Given the description of an element on the screen output the (x, y) to click on. 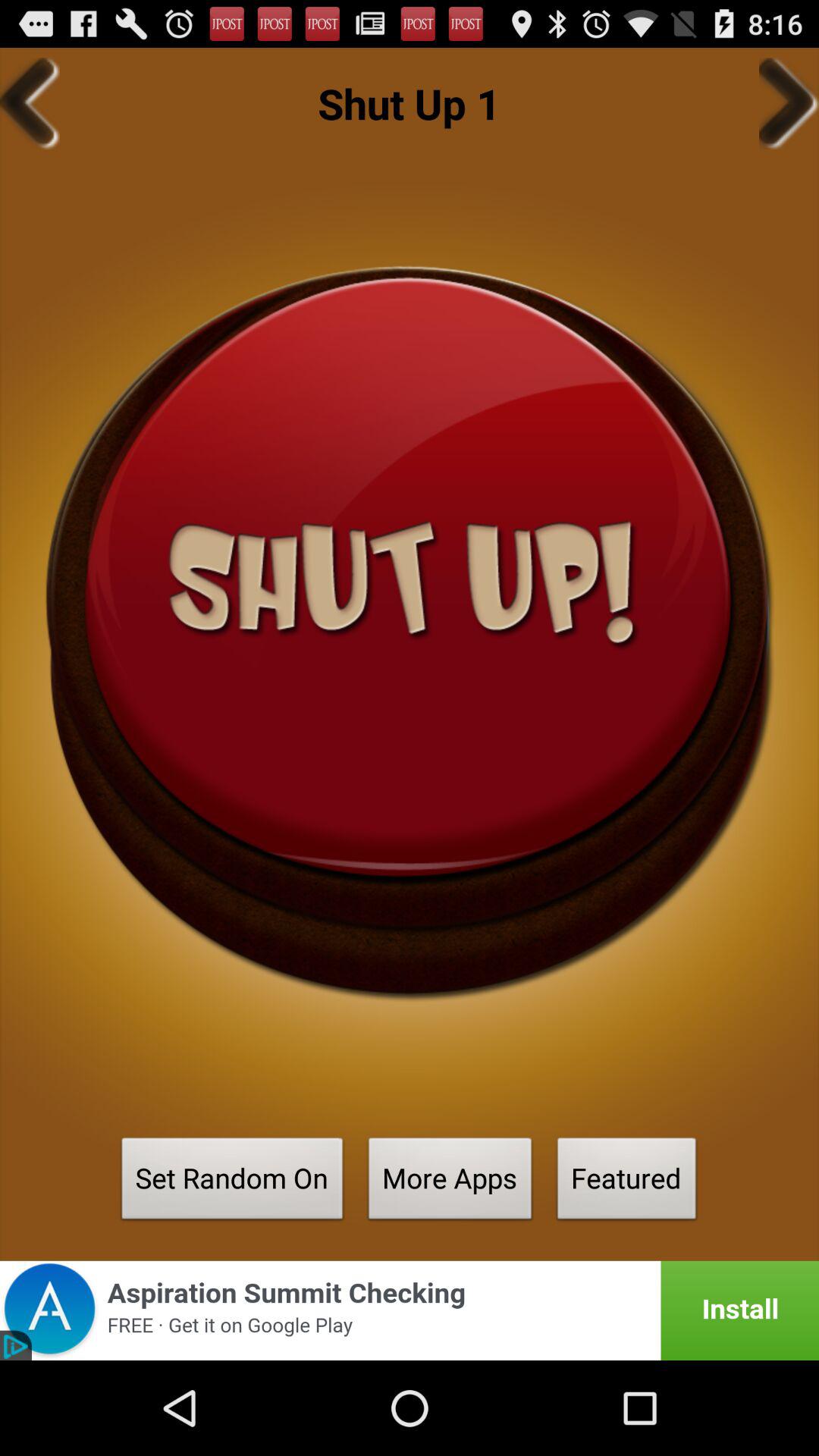
scroll to the featured button (626, 1182)
